Given the description of an element on the screen output the (x, y) to click on. 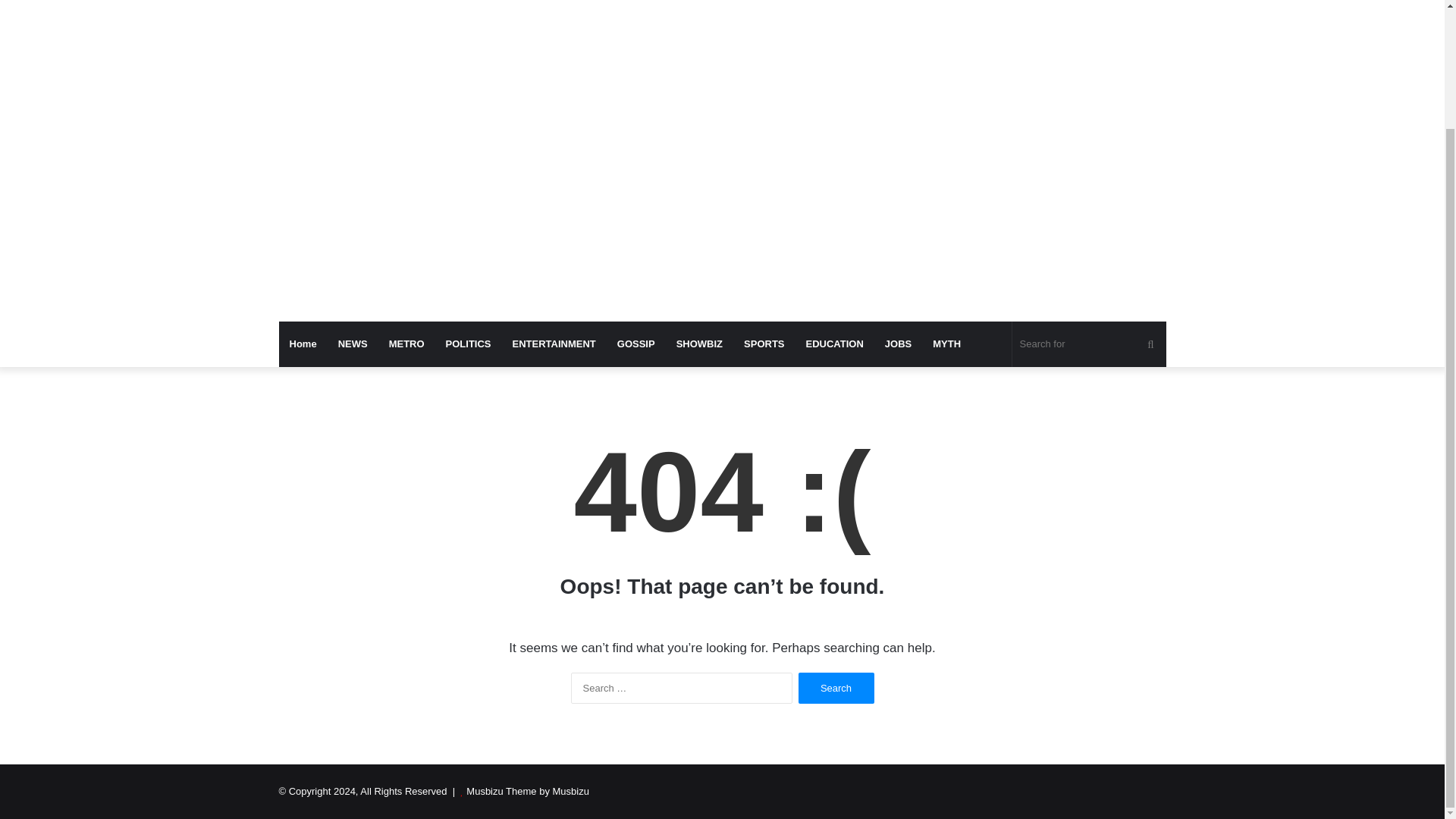
Musbizu Theme by Musbizu (527, 790)
EDUCATION (834, 343)
GOSSIP (636, 343)
SPORTS (763, 343)
SHOWBIZ (699, 343)
NEWS (352, 343)
METRO (406, 343)
Musbizu (419, 4)
Search (835, 687)
POLITICS (468, 343)
MYTH (946, 343)
JOBS (898, 343)
Search (835, 687)
ENTERTAINMENT (554, 343)
